Given the description of an element on the screen output the (x, y) to click on. 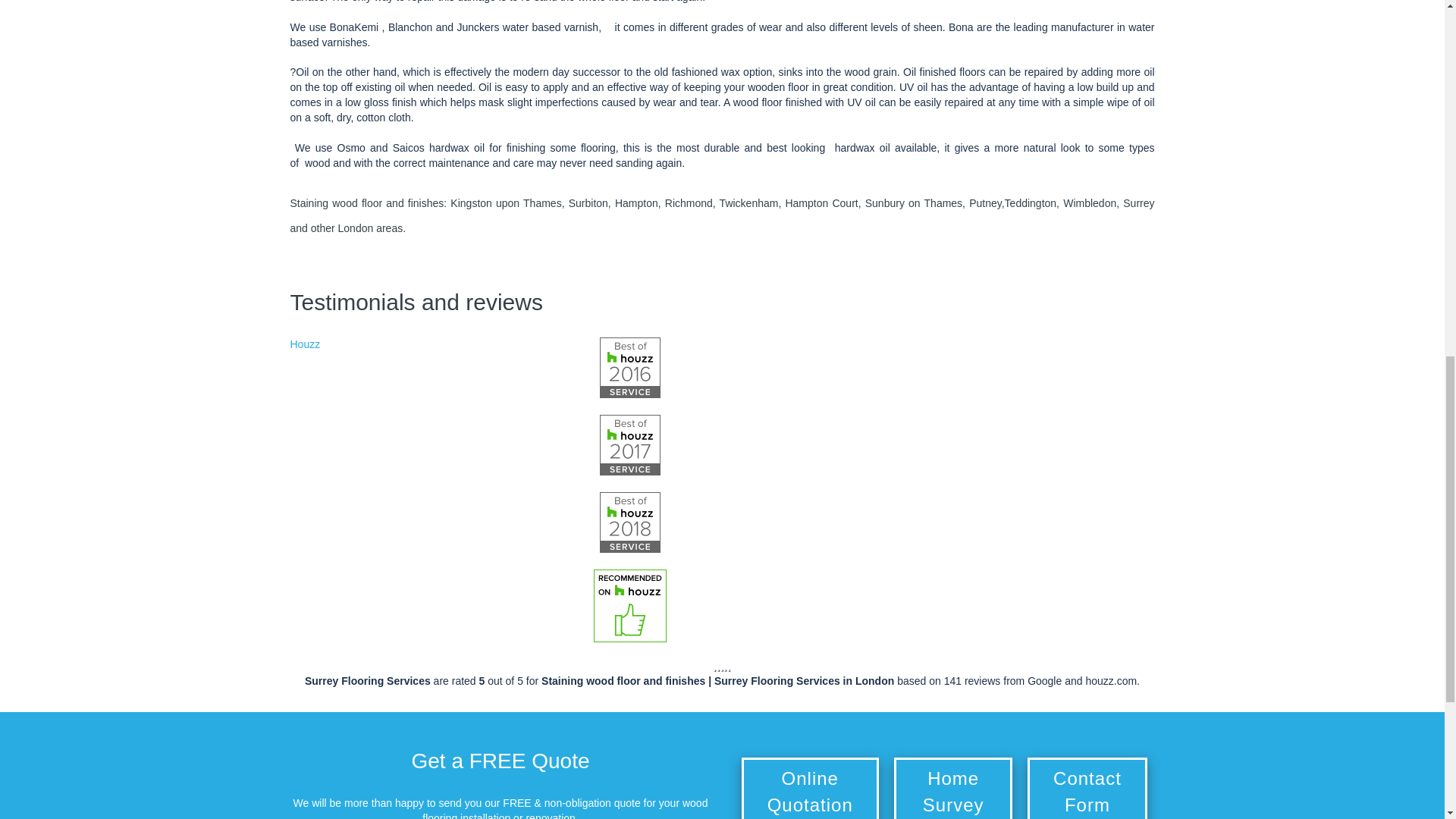
Houzz (304, 344)
Online Quotation (810, 788)
Home Survey (952, 788)
Contact Form (1087, 788)
Contact Form (1087, 788)
